Given the description of an element on the screen output the (x, y) to click on. 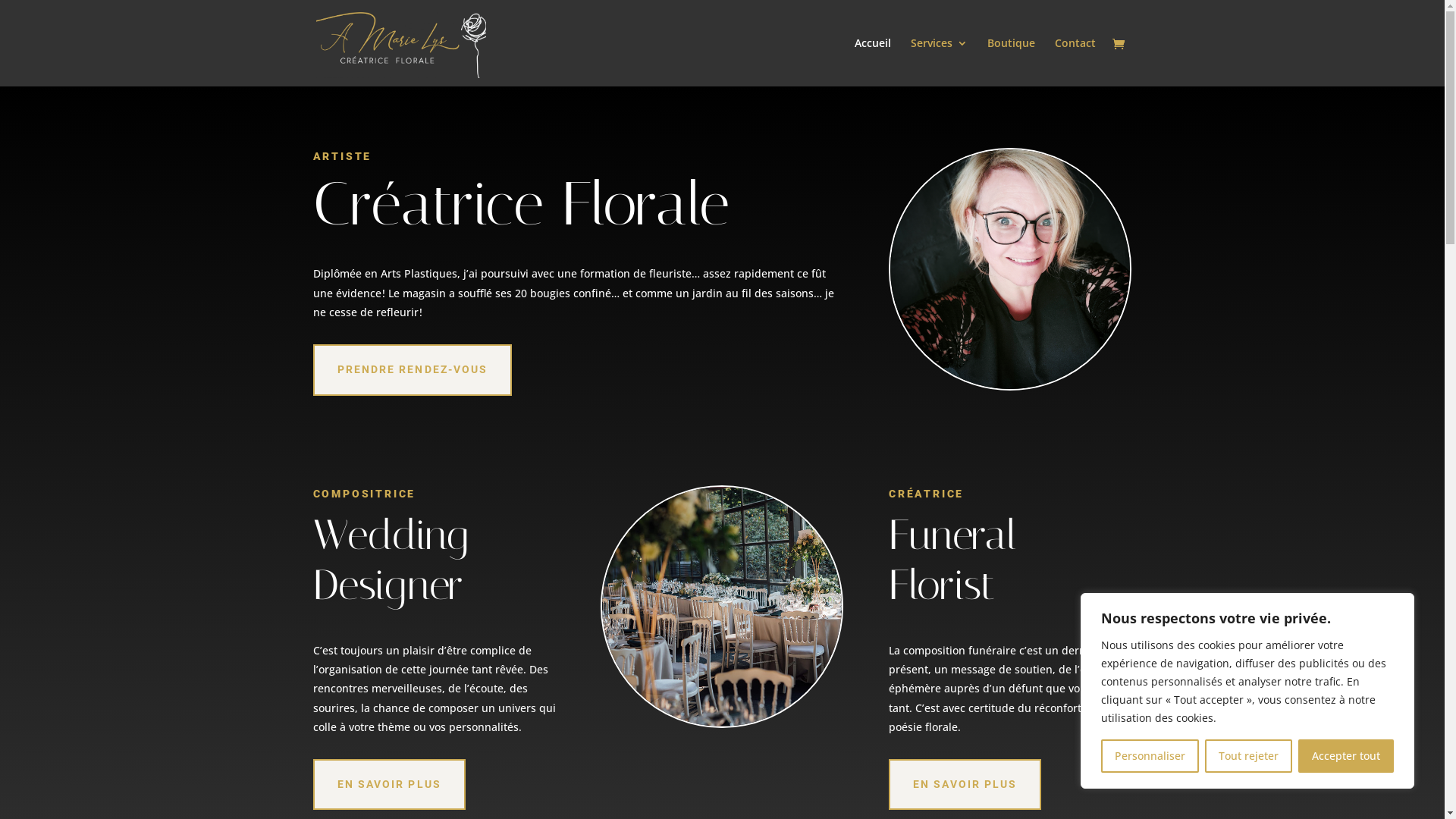
Accepter tout Element type: text (1345, 755)
Accueil Element type: text (871, 61)
Contact Element type: text (1074, 61)
Boutique Element type: text (1011, 61)
EN SAVOIR PLUS Element type: text (964, 784)
Services Element type: text (938, 61)
Personnaliser Element type: text (1149, 755)
EN SAVOIR PLUS Element type: text (388, 784)
PRENDRE RENDEZ-VOUS Element type: text (411, 369)
B612_20230522_193004_506 Element type: hover (1009, 269)
Tout rejeter Element type: text (1248, 755)
realisation-fleuriste-marie-sombreffe-mariage-02 Element type: hover (721, 606)
